Given the description of an element on the screen output the (x, y) to click on. 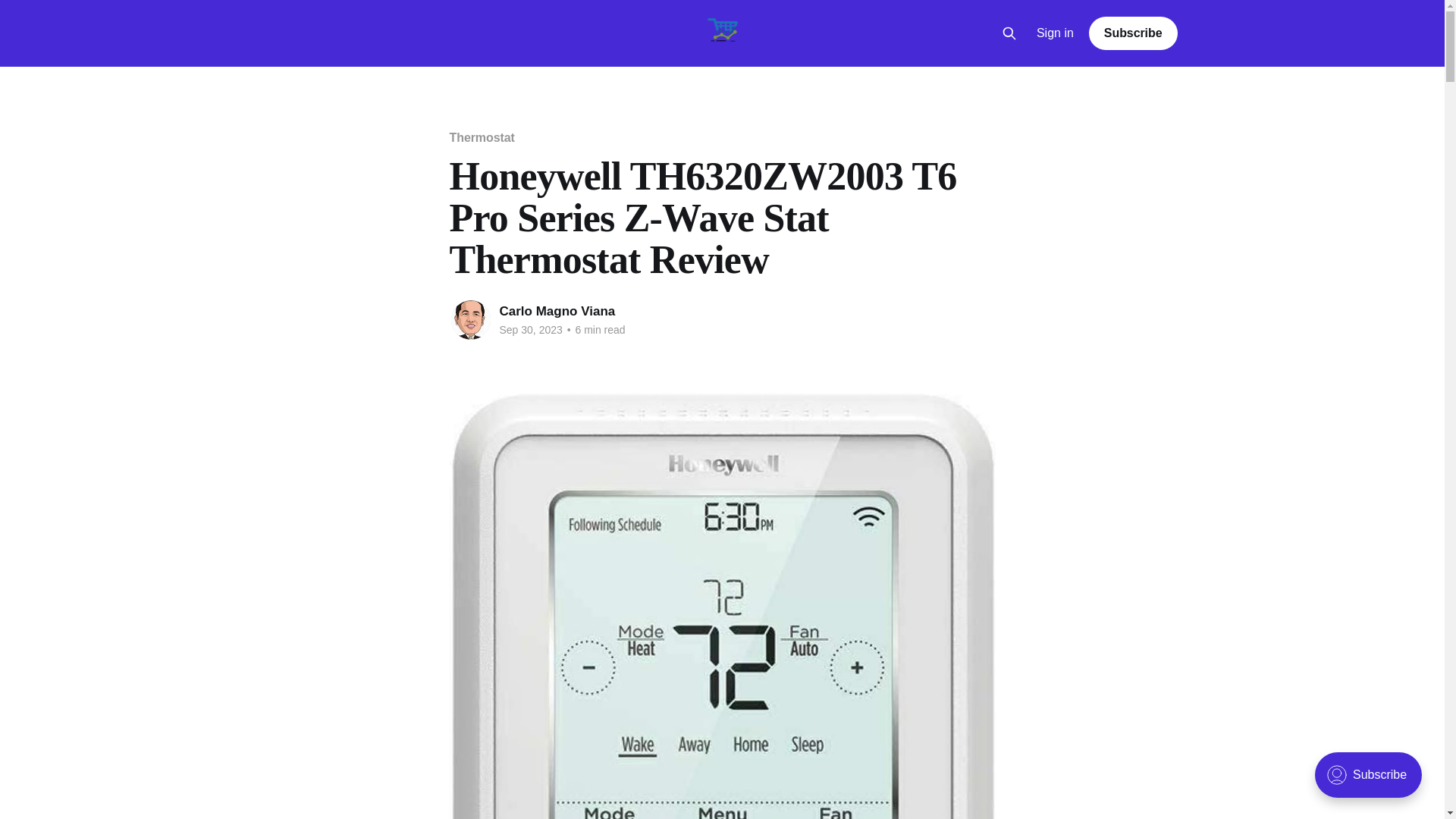
Thermostat (480, 137)
Sign in (1055, 33)
Subscribe (1133, 32)
Carlo Magno Viana (556, 310)
